Given the description of an element on the screen output the (x, y) to click on. 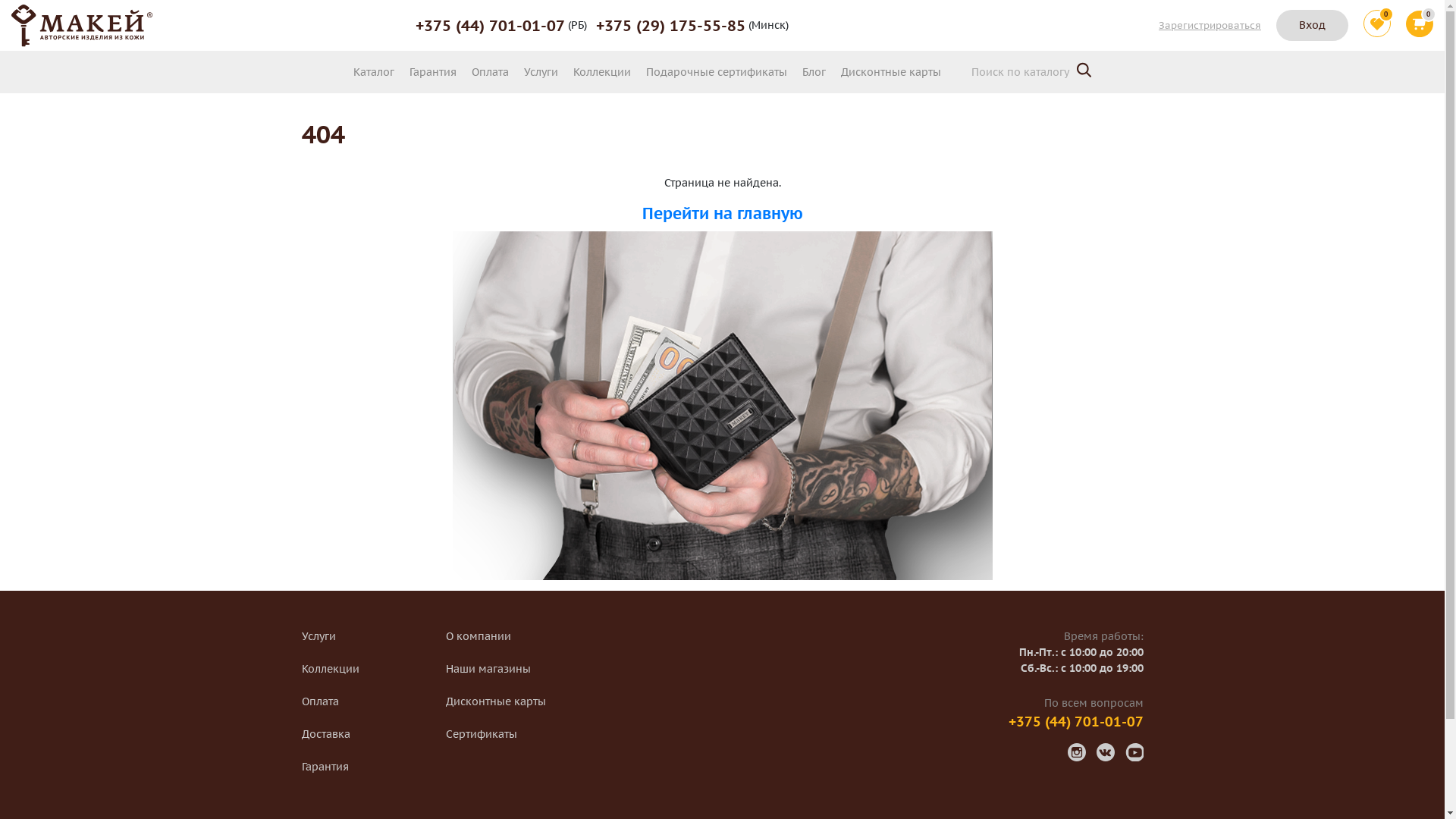
+375 (44) 701-01-07 Element type: text (1075, 721)
+375 (44) 701-01-07 Element type: text (489, 24)
0 Element type: text (1376, 24)
0 Element type: text (1419, 24)
+375 (29) 175-55-85 Element type: text (670, 24)
